Given the description of an element on the screen output the (x, y) to click on. 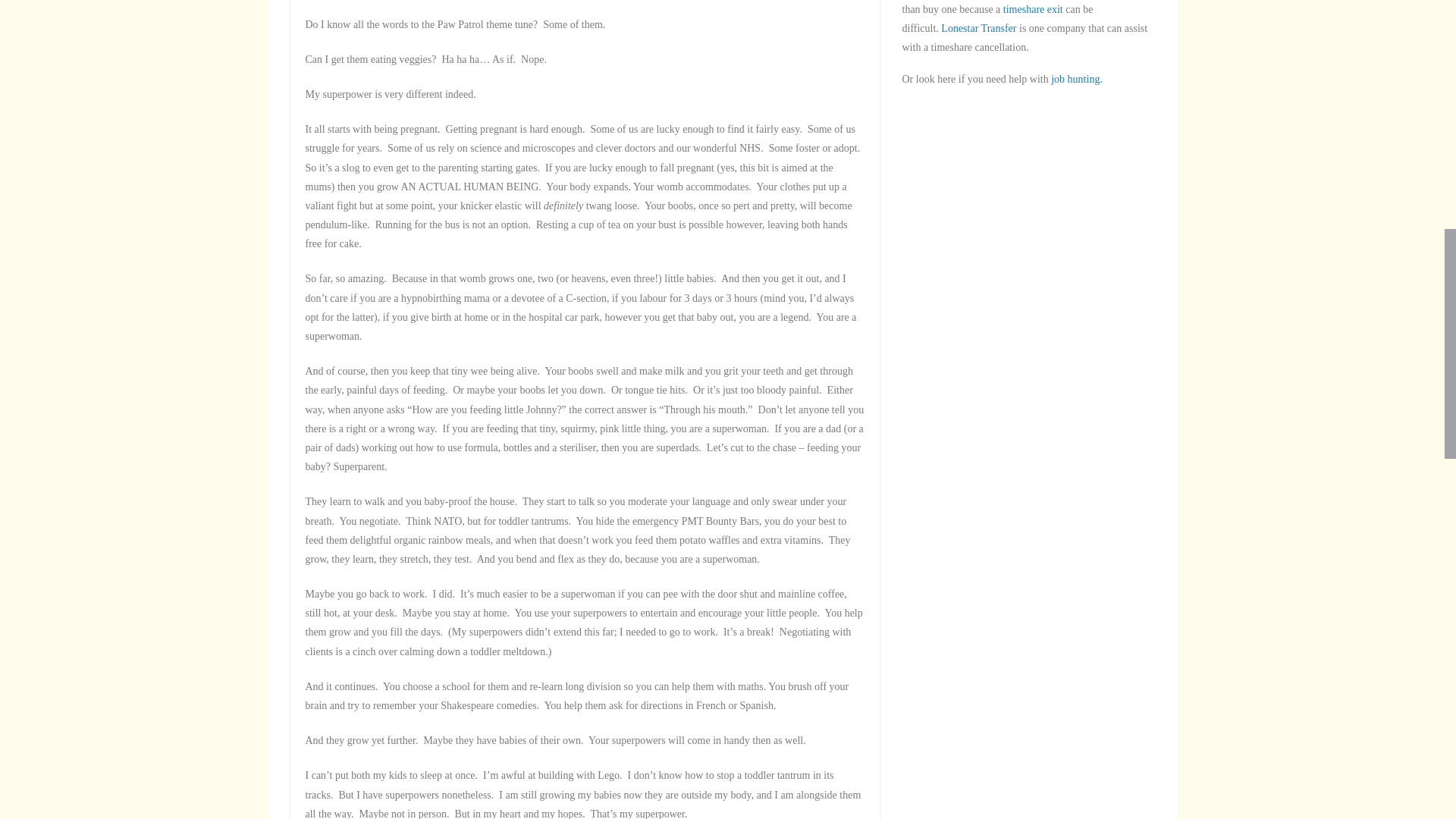
timeshare exit (1032, 9)
Lonestar Transfer (978, 28)
job hunting. (1076, 79)
